Given the description of an element on the screen output the (x, y) to click on. 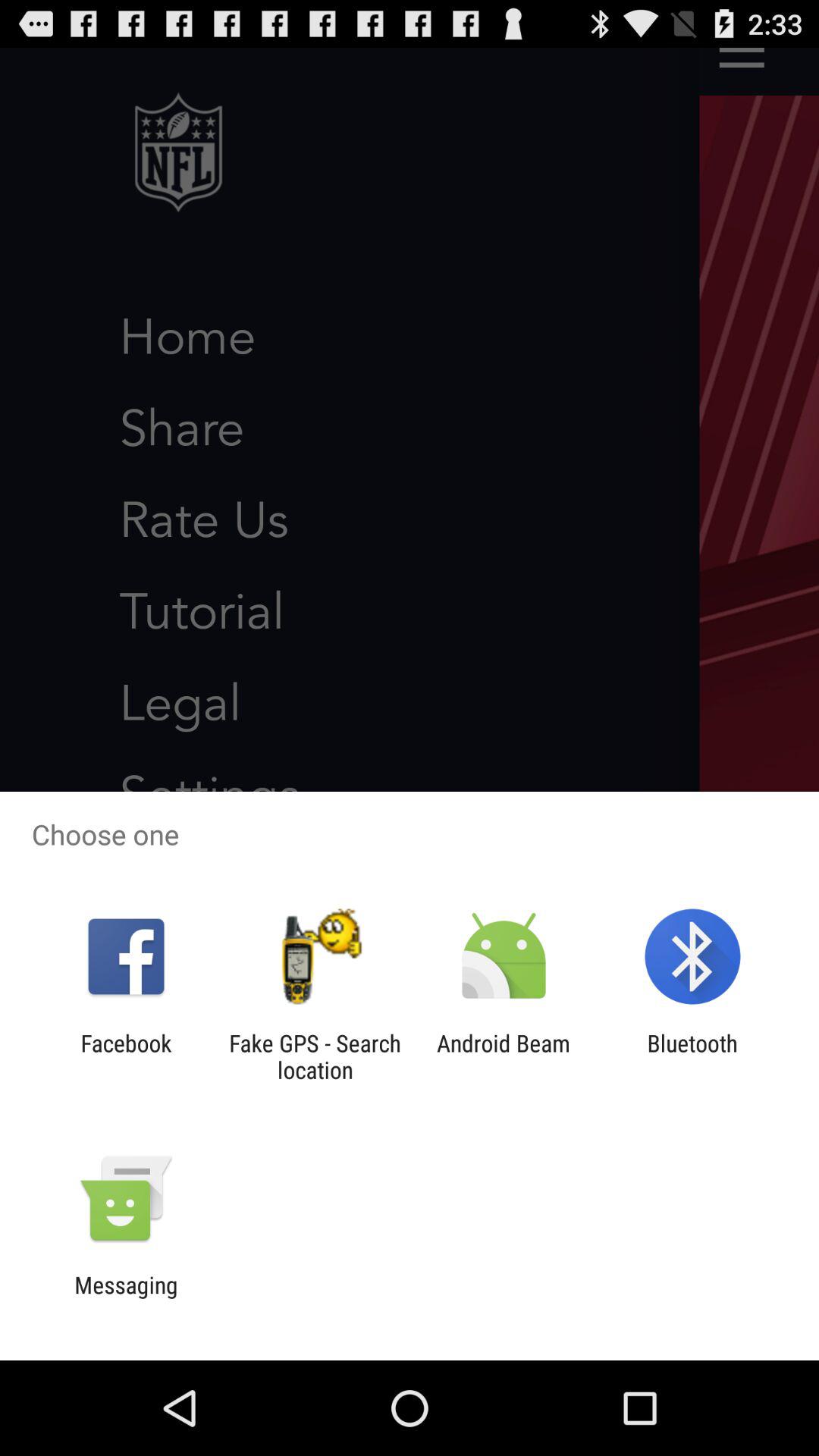
tap app next to the android beam icon (692, 1056)
